Given the description of an element on the screen output the (x, y) to click on. 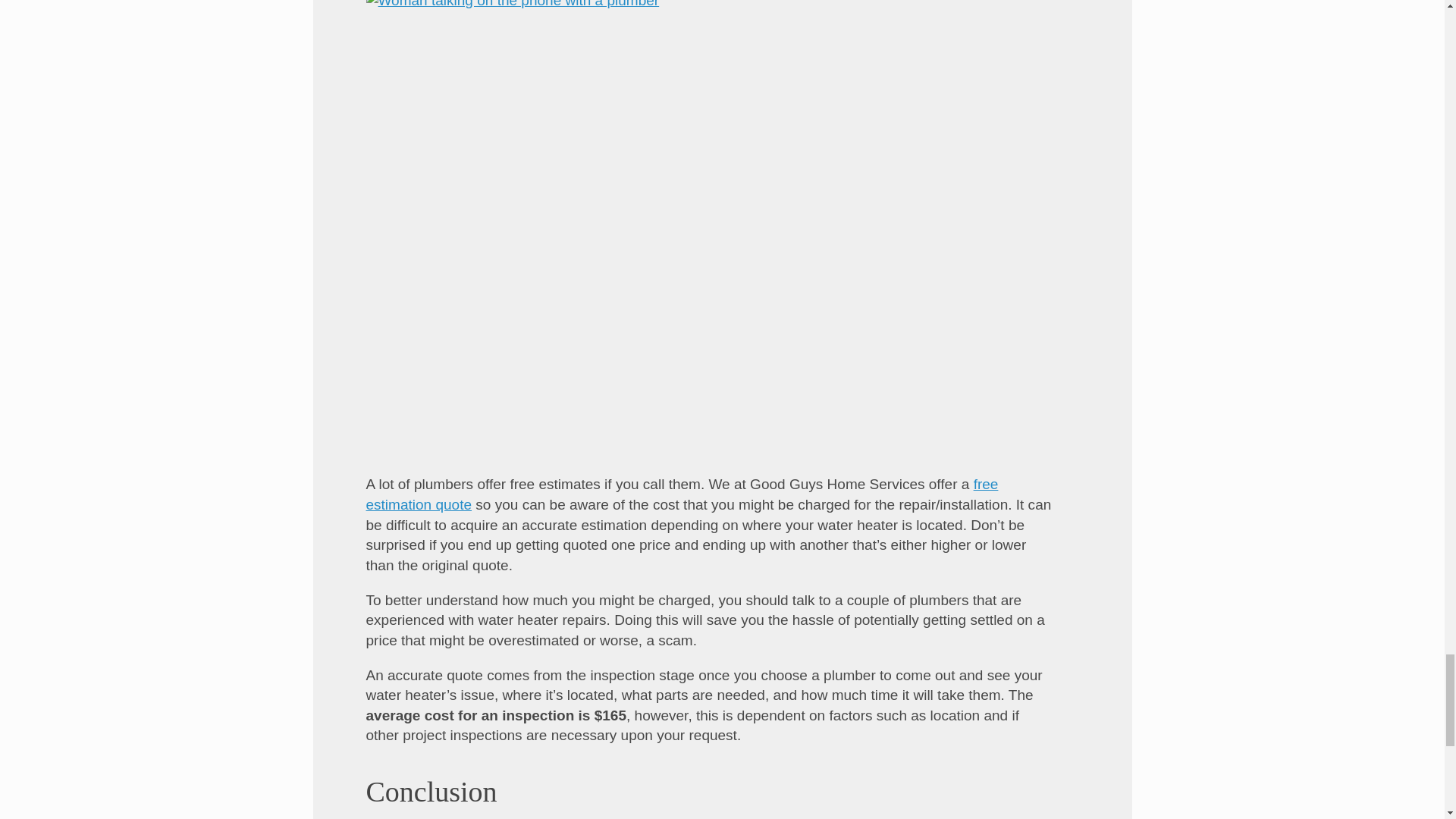
free estimation quote (681, 493)
